Given the description of an element on the screen output the (x, y) to click on. 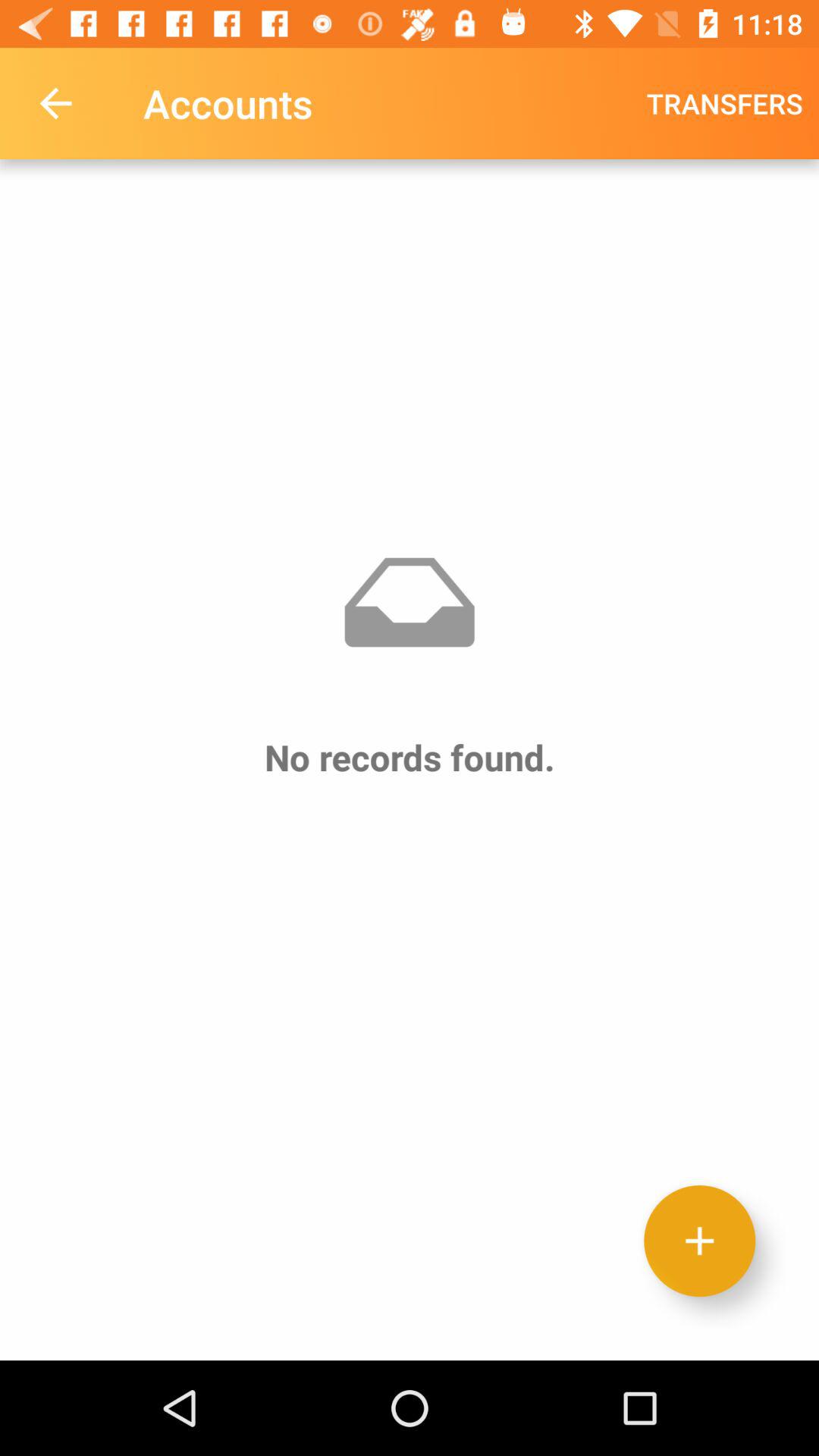
choose transfers at the top right corner (724, 103)
